Given the description of an element on the screen output the (x, y) to click on. 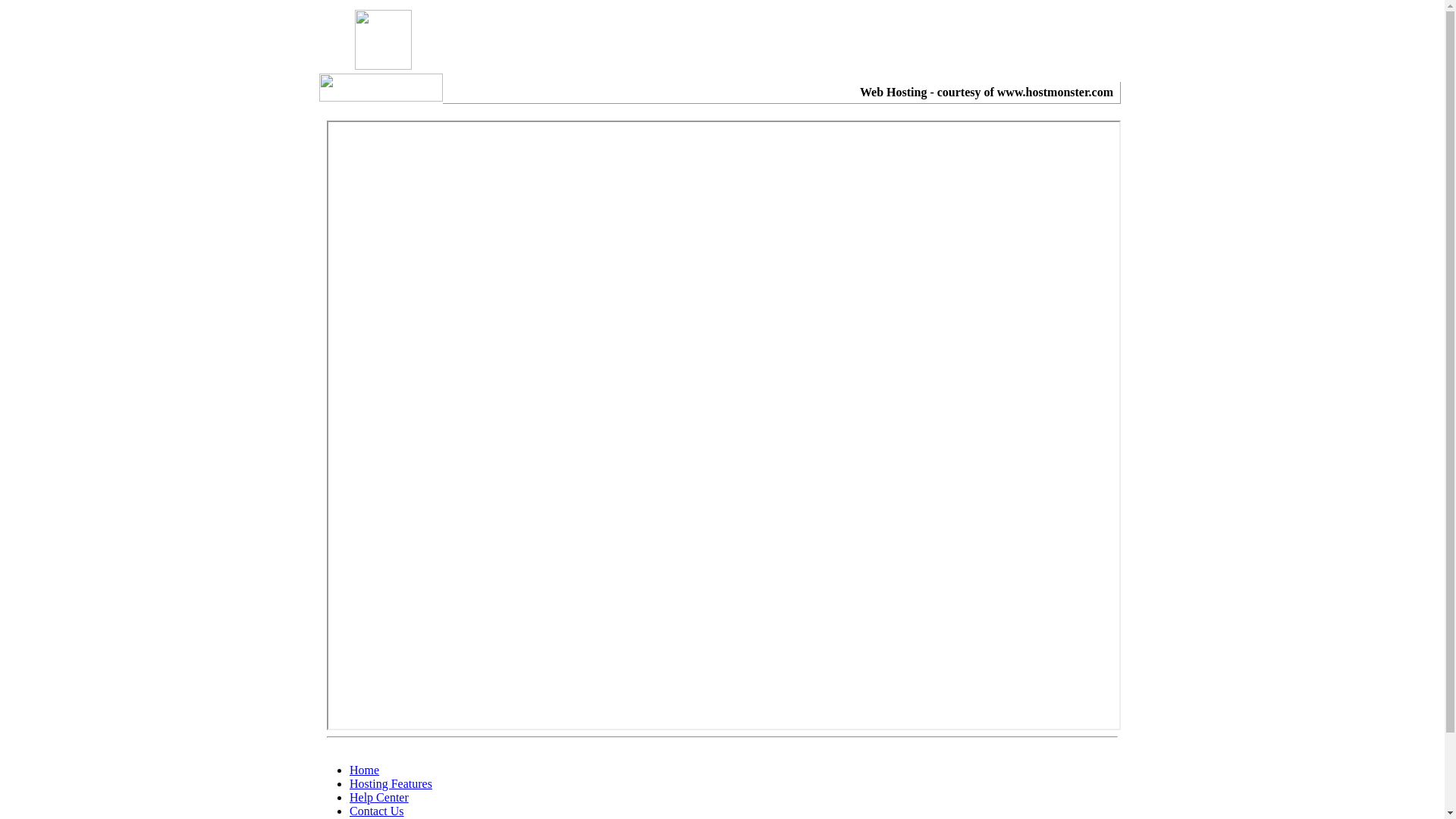
Contact Us Element type: text (376, 810)
Help Center Element type: text (378, 796)
Home Element type: text (364, 769)
Hosting Features Element type: text (390, 783)
Web Hosting - courtesy of www.hostmonster.com Element type: text (986, 91)
